Given the description of an element on the screen output the (x, y) to click on. 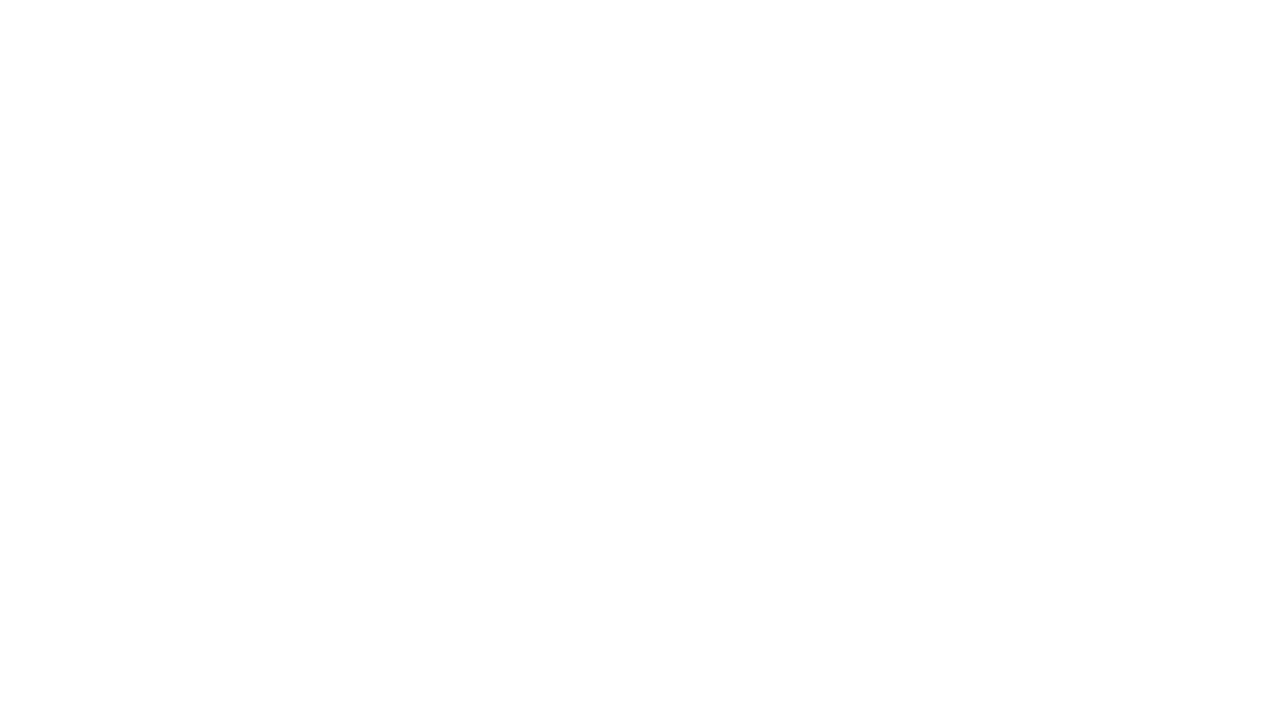
Accessibility Checker Accessibility: Good to go (460, 668)
Spelling and Grammar Check No Errors (155, 668)
Page Number Page 1 of 1 (39, 668)
Language Chinese (Simplified, Mainland China) (274, 668)
